Given the description of an element on the screen output the (x, y) to click on. 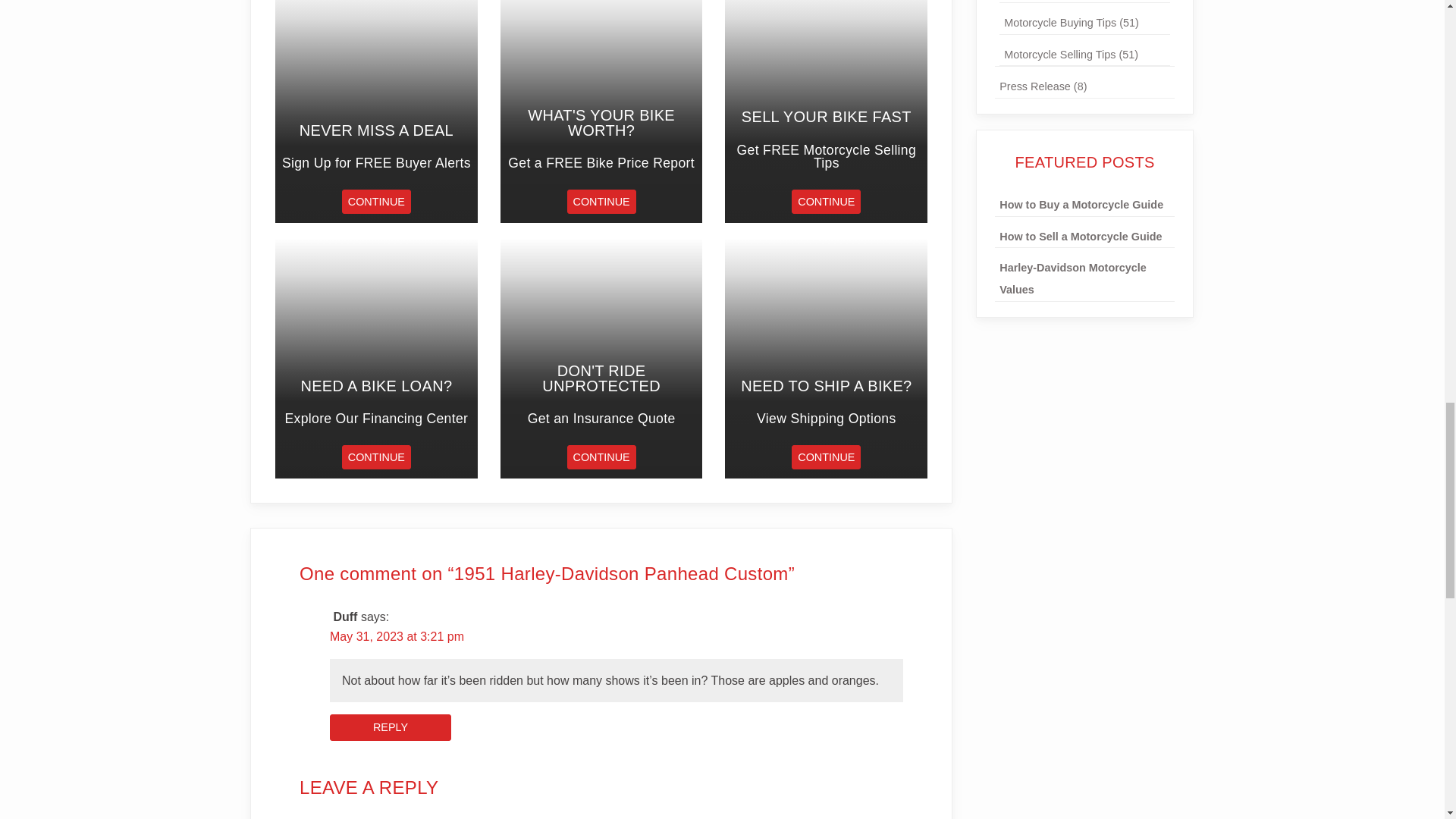
CONTINUE (376, 457)
CONTINUE (601, 201)
CONTINUE (826, 201)
CONTINUE (601, 457)
CONTINUE (376, 201)
CONTINUE (826, 457)
REPLY (390, 727)
May 31, 2023 at 3:21 pm (397, 635)
